Given the description of an element on the screen output the (x, y) to click on. 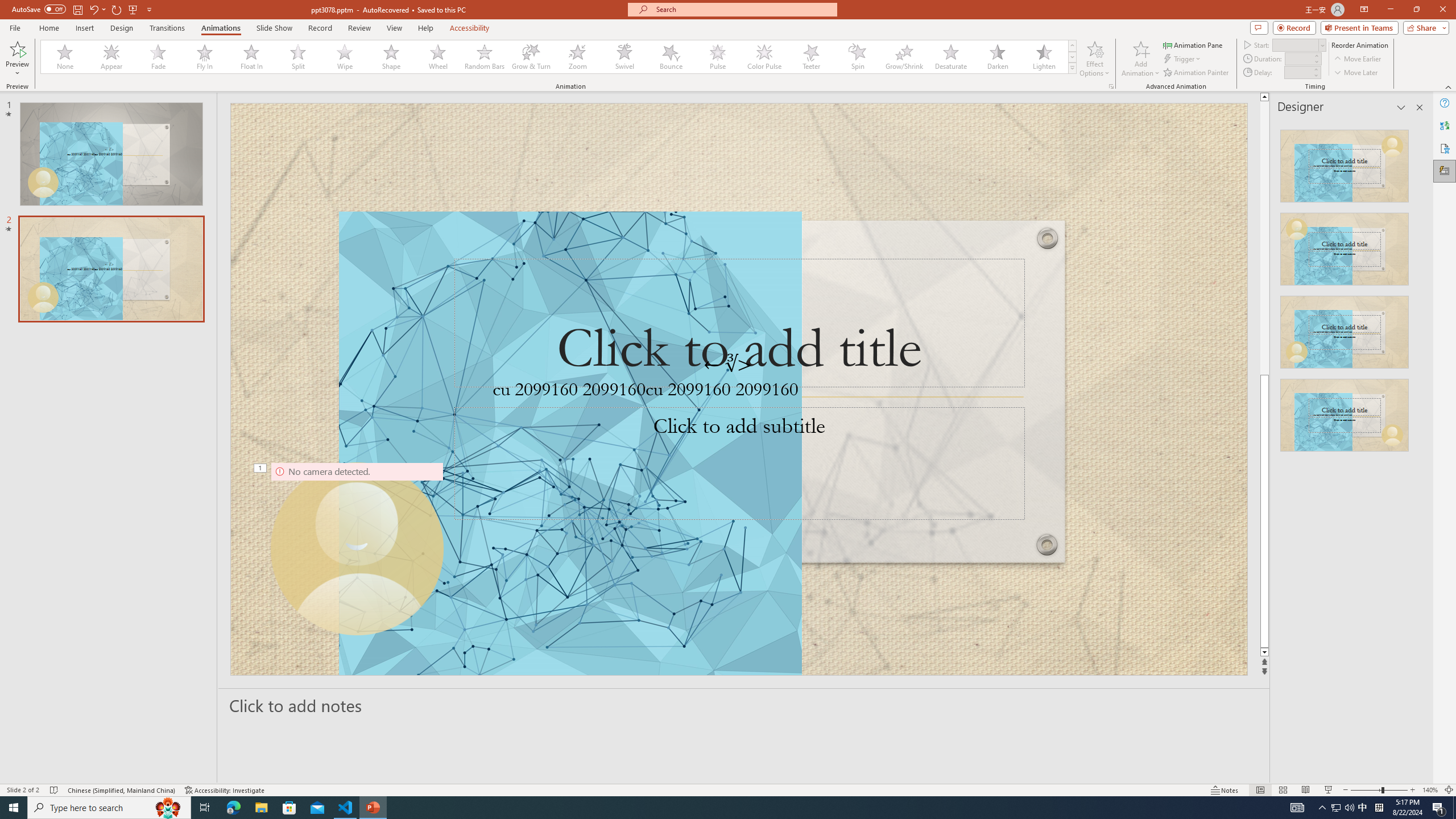
Animation Delay (1297, 72)
Animation Styles (1071, 67)
Darken (997, 56)
